Given the description of an element on the screen output the (x, y) to click on. 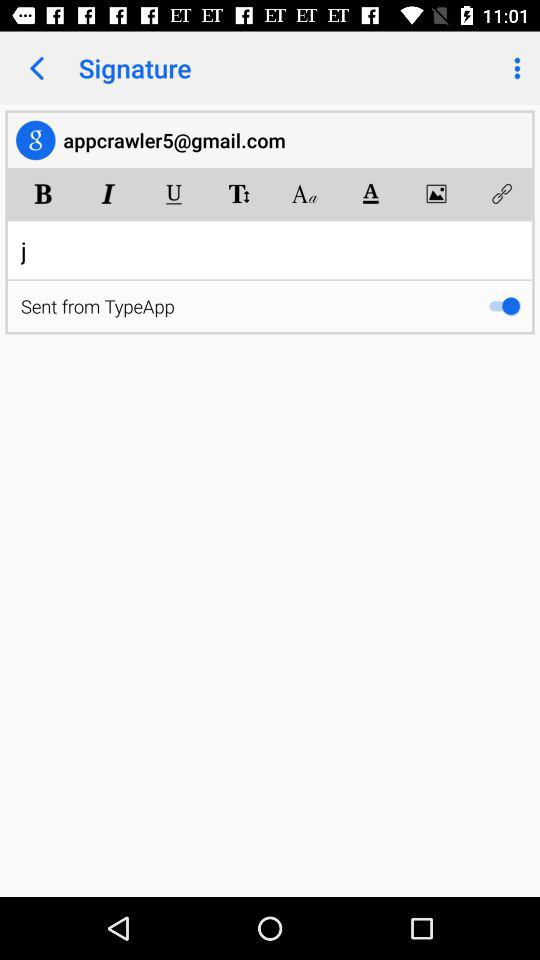
click the app next to sent from typeapp item (504, 305)
